Given the description of an element on the screen output the (x, y) to click on. 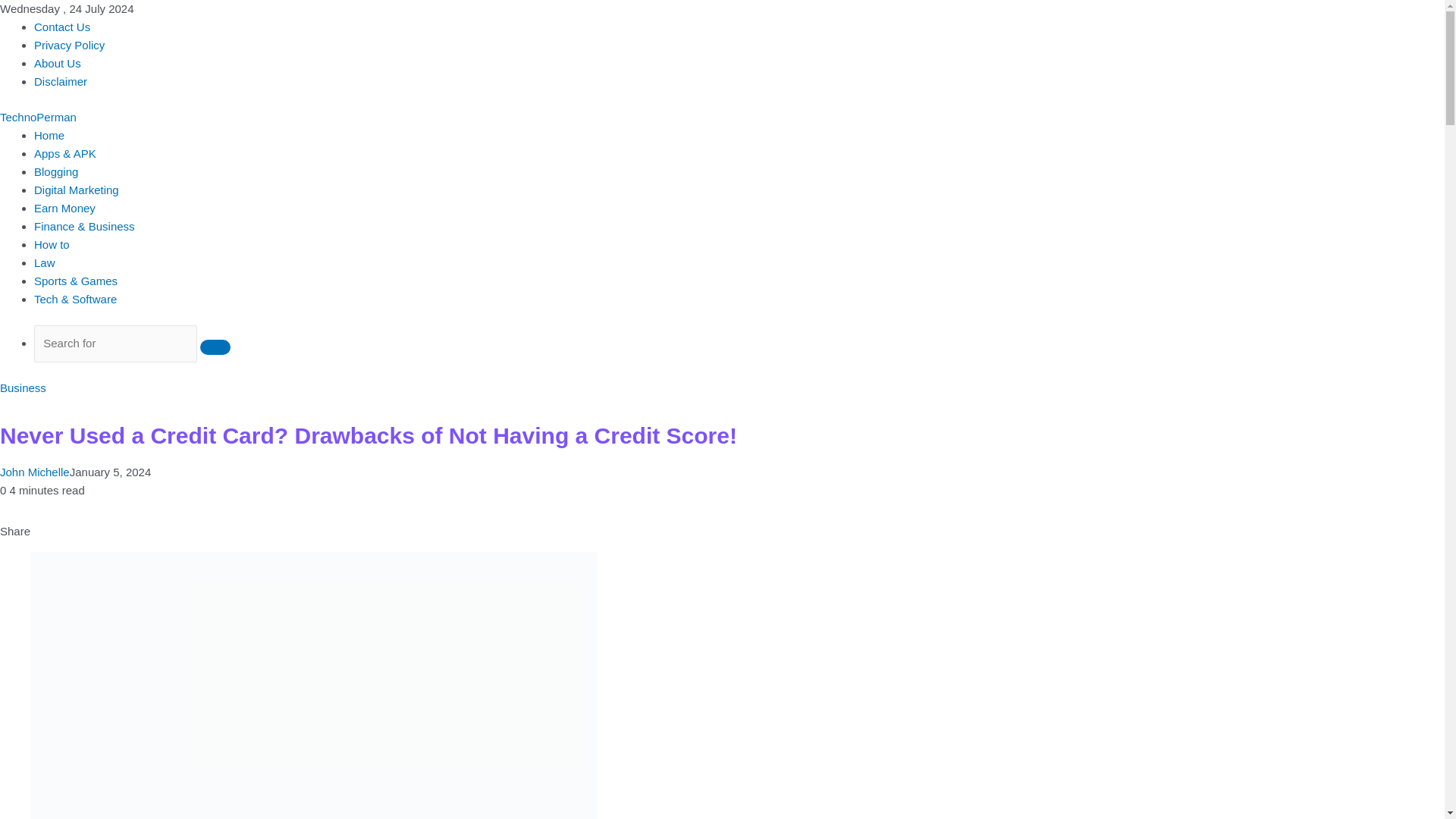
John Michelle (34, 472)
Earn Money (64, 207)
Contact Us (61, 26)
Blogging (55, 171)
Law (44, 262)
About Us (57, 62)
How to (51, 244)
Privacy Policy (68, 44)
Disclaimer (60, 81)
Search for (114, 343)
John Michelle (34, 472)
Home (48, 134)
Digital Marketing (76, 189)
Search for (215, 346)
Business (23, 387)
